Given the description of an element on the screen output the (x, y) to click on. 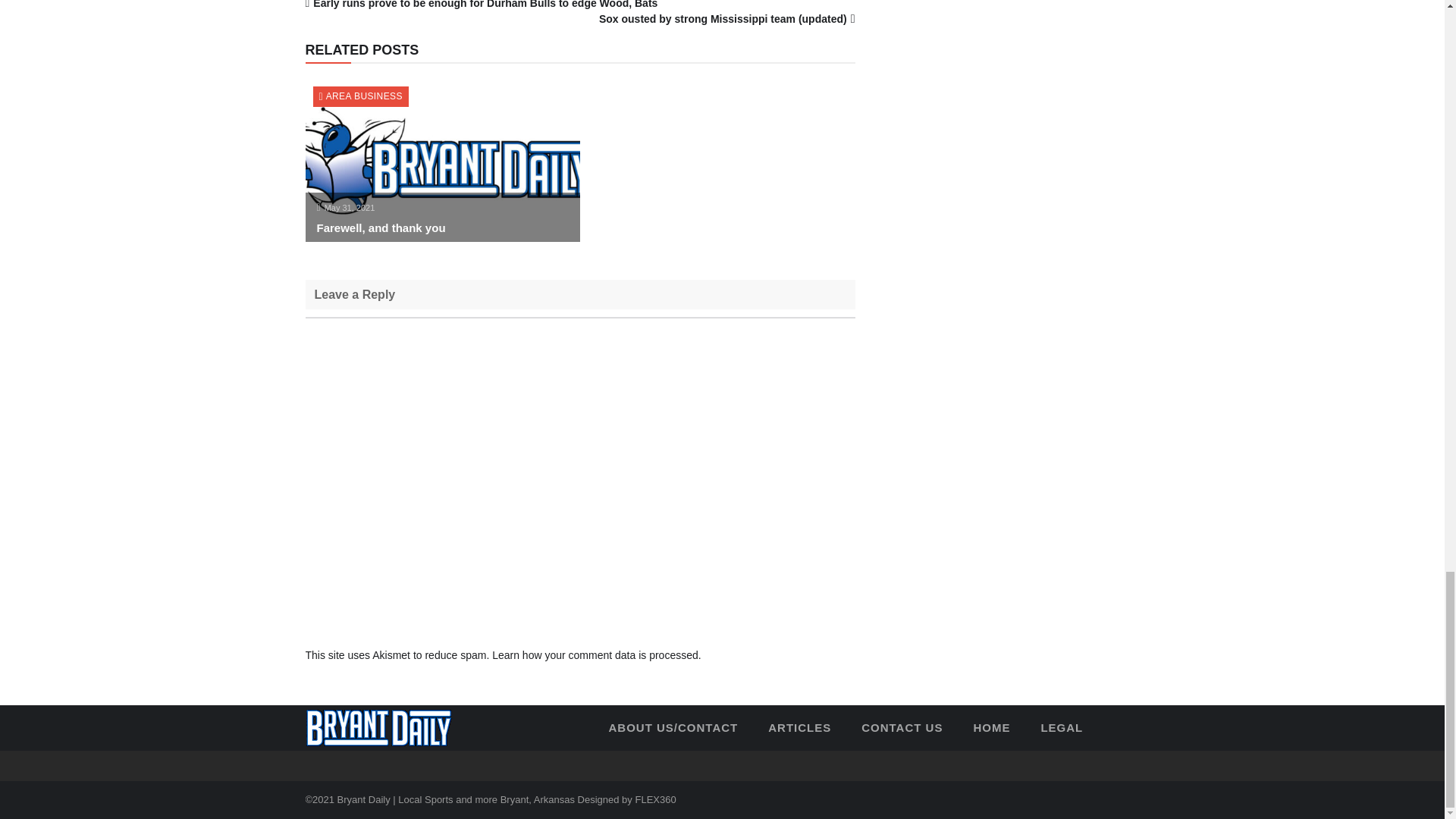
Learn how your comment data is processed (595, 654)
Farewell, and thank you (381, 227)
AREA BUSINESS (364, 95)
